Given the description of an element on the screen output the (x, y) to click on. 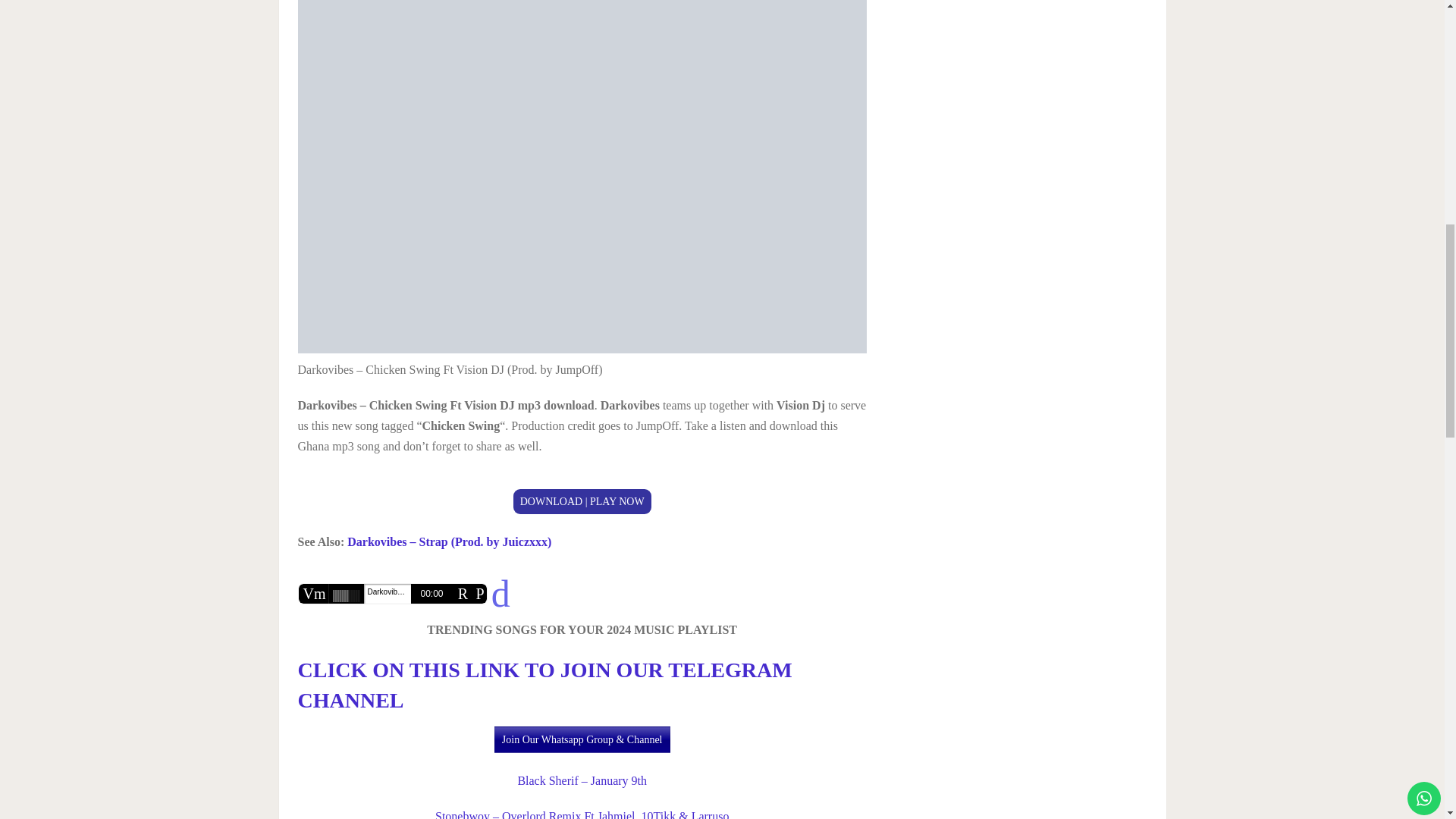
d (500, 593)
CLICK ON THIS LINK TO JOIN OUR TELEGRAM CHANNEL (544, 684)
00:00 (431, 593)
